Given the description of an element on the screen output the (x, y) to click on. 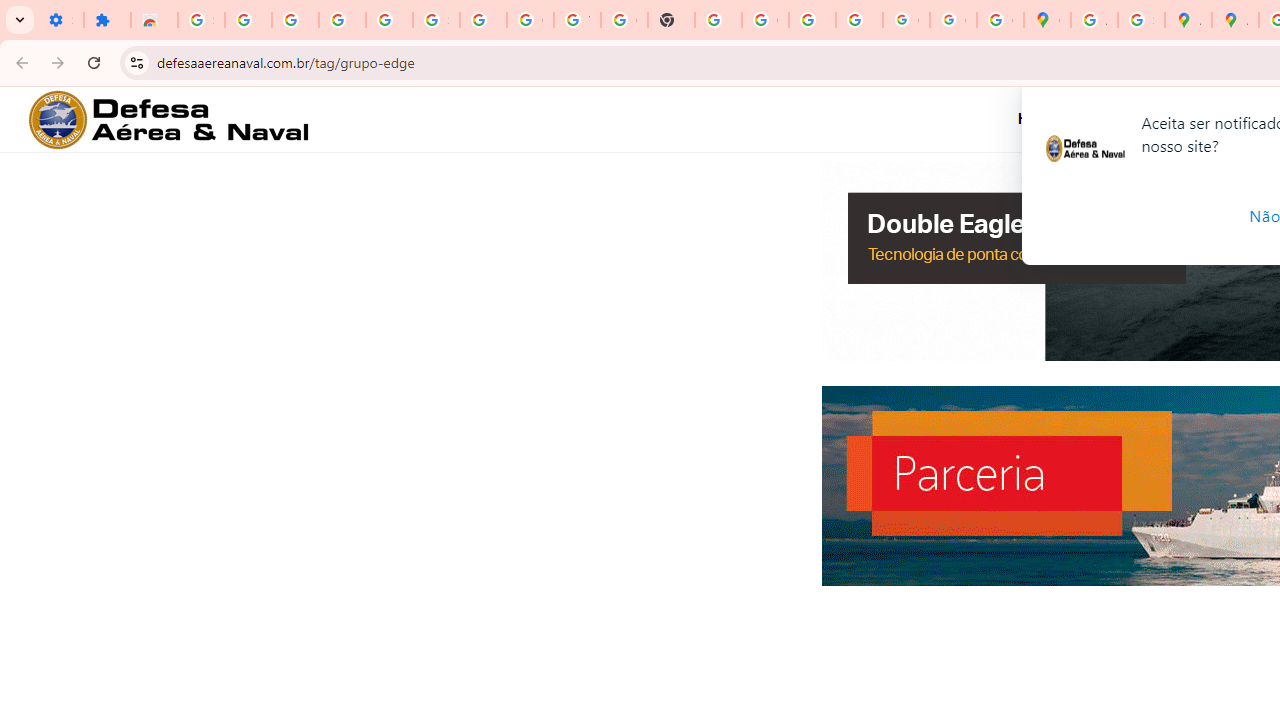
Reviews: Helix Fruit Jump Arcade Game (153, 20)
Google Account (530, 20)
New Tab (671, 20)
Delete photos & videos - Computer - Google Photos Help (294, 20)
AutomationID: menu-item-123874 (1198, 119)
YouTube (577, 20)
